Given the description of an element on the screen output the (x, y) to click on. 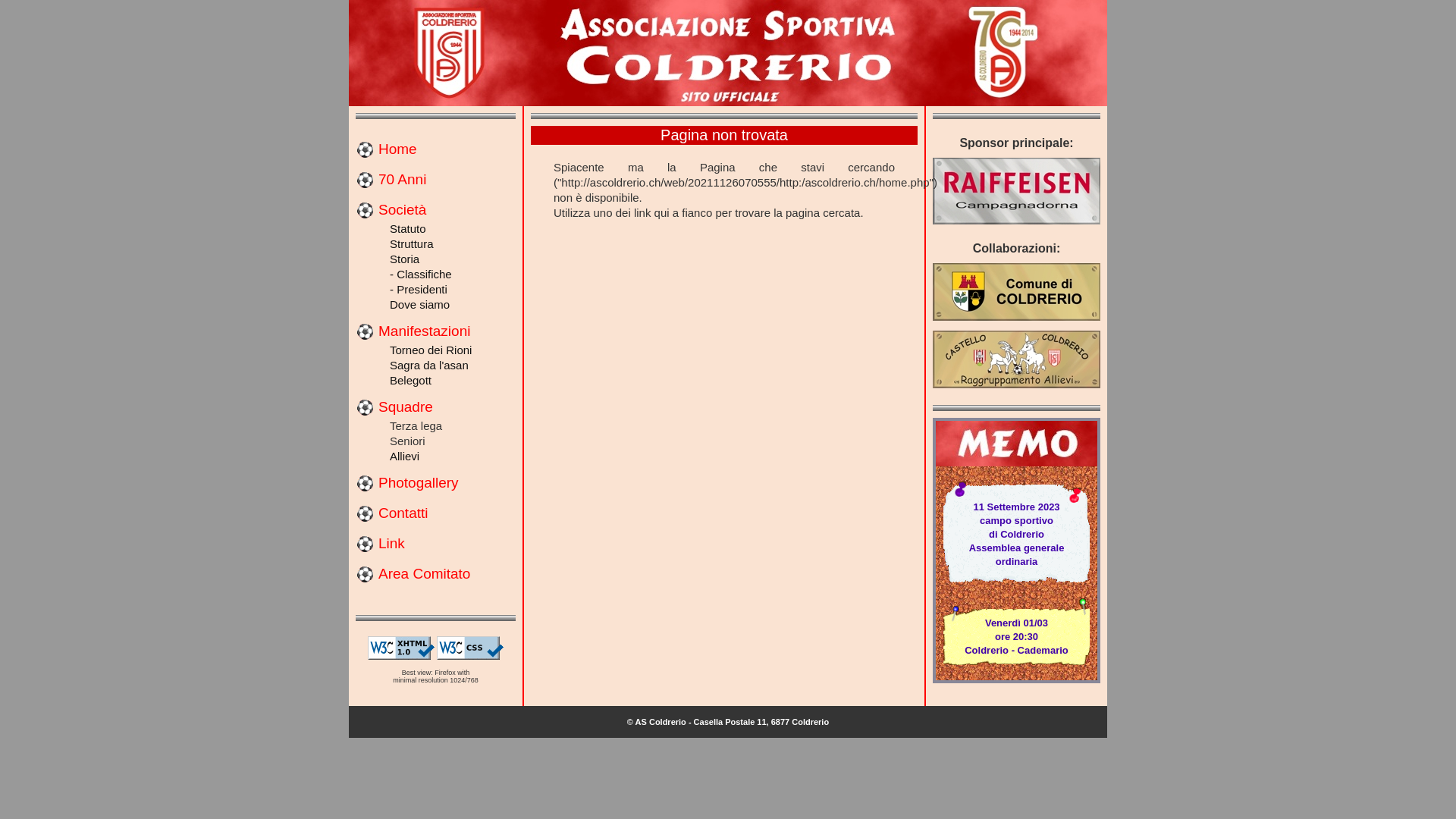
Allievi Element type: text (404, 455)
Dove siamo Element type: text (419, 304)
Sagra da l'asan Element type: text (428, 364)
- Classifiche Element type: text (420, 273)
Storia Element type: text (404, 258)
Belegott Element type: text (410, 379)
Torneo dei Rioni Element type: text (430, 349)
Struttura Element type: text (411, 243)
70 Anni Element type: text (402, 179)
Home Element type: text (397, 148)
Statuto Element type: text (407, 228)
Link Element type: text (391, 543)
Photogallery Element type: text (418, 482)
- Presidenti Element type: text (418, 288)
Contatti Element type: text (402, 512)
Area Comitato Element type: text (424, 573)
